Given the description of an element on the screen output the (x, y) to click on. 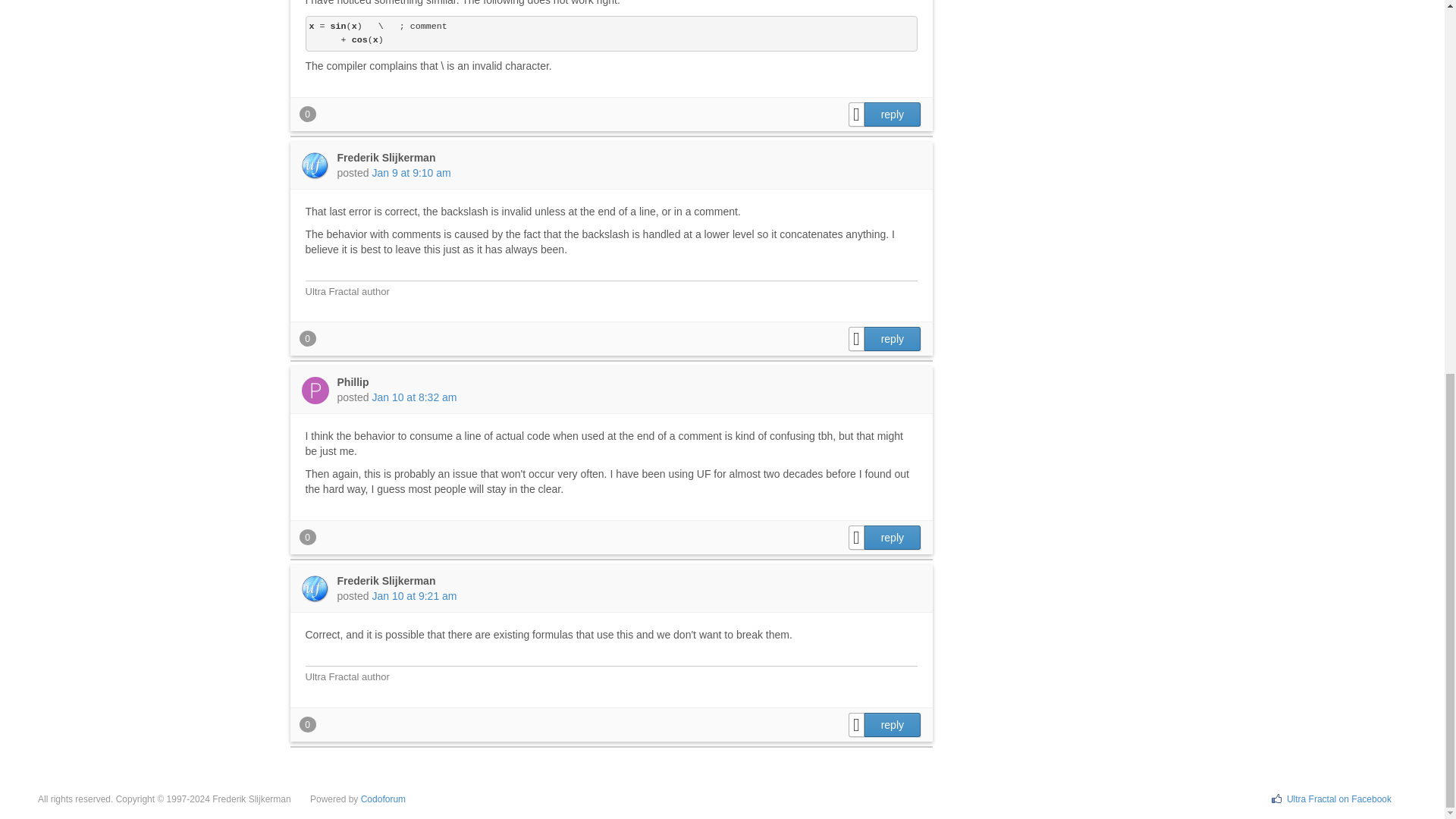
Jan 9 at 9:10 am (410, 173)
Frederik Slijkerman (385, 157)
reputation points (306, 724)
reputation points (306, 338)
Jan 10 at 8:32 am (414, 397)
reputation points (306, 114)
Frederik Slijkerman (385, 580)
Jan 10 at 9:21 am (414, 595)
Phillip (352, 381)
reputation points (306, 536)
